Given the description of an element on the screen output the (x, y) to click on. 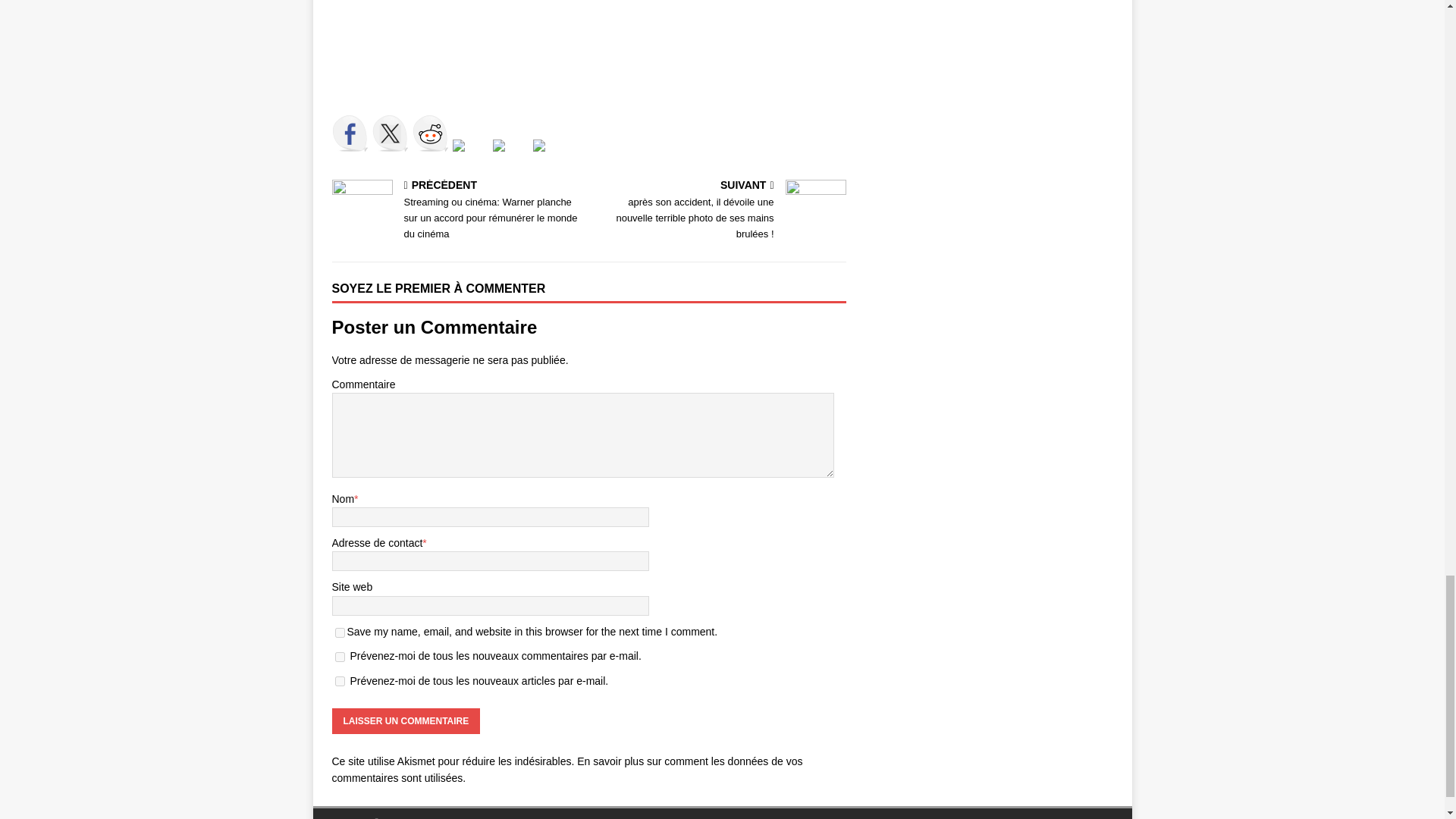
Pin it with Pinterest (457, 145)
Share on Linkedin (499, 145)
Share on Facebook (349, 133)
Share by email (550, 157)
subscribe (339, 656)
Laisser un commentaire (405, 720)
Share on Linkedin (511, 157)
yes (339, 633)
Share on Reddit (430, 133)
Share on Twitter (389, 133)
Pin it with Pinterest (469, 157)
subscribe (339, 681)
